Given the description of an element on the screen output the (x, y) to click on. 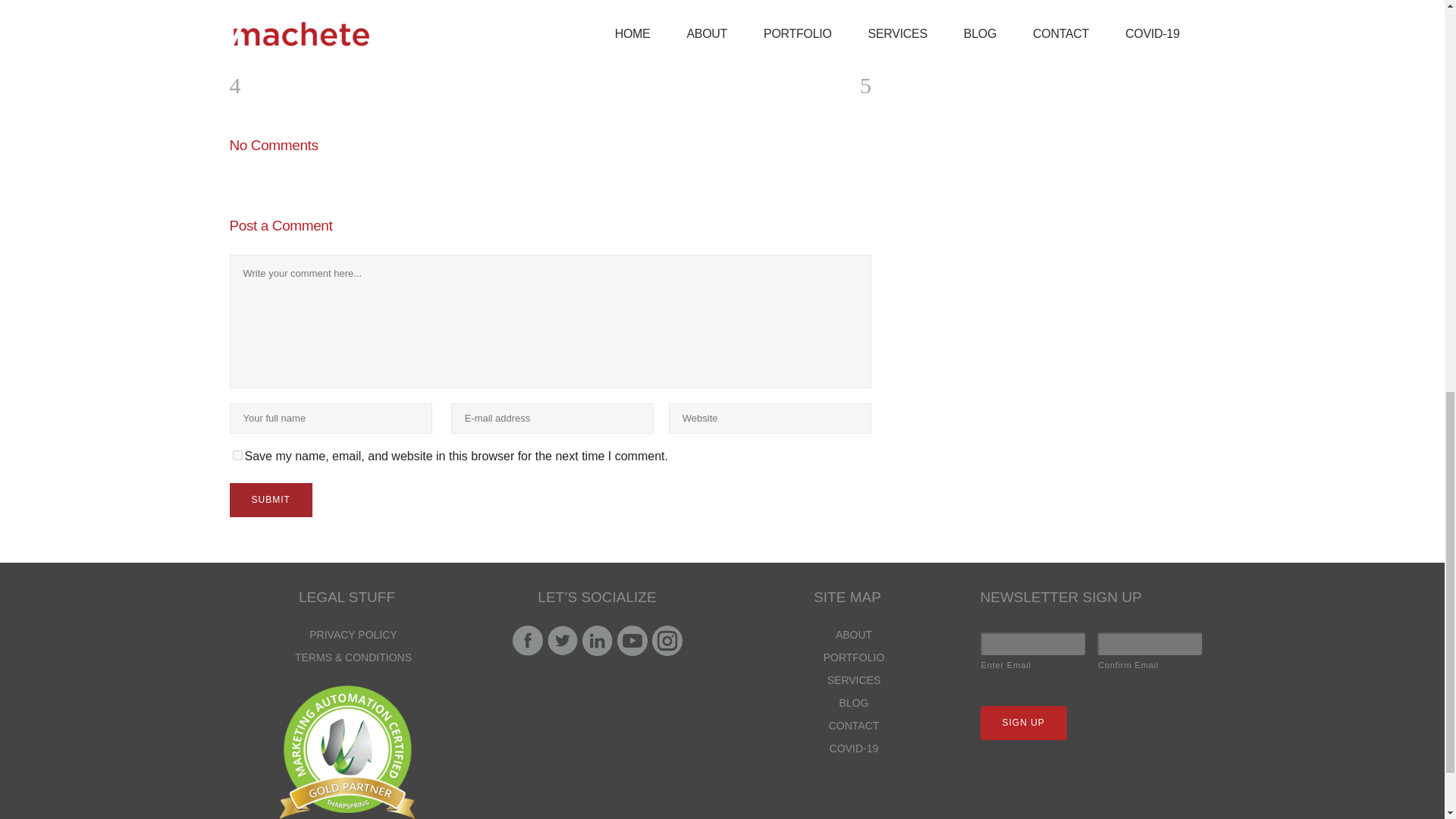
Submit (269, 499)
Sign Up (944, 20)
yes (236, 455)
Submit (269, 499)
Sign Up (1022, 722)
